Given the description of an element on the screen output the (x, y) to click on. 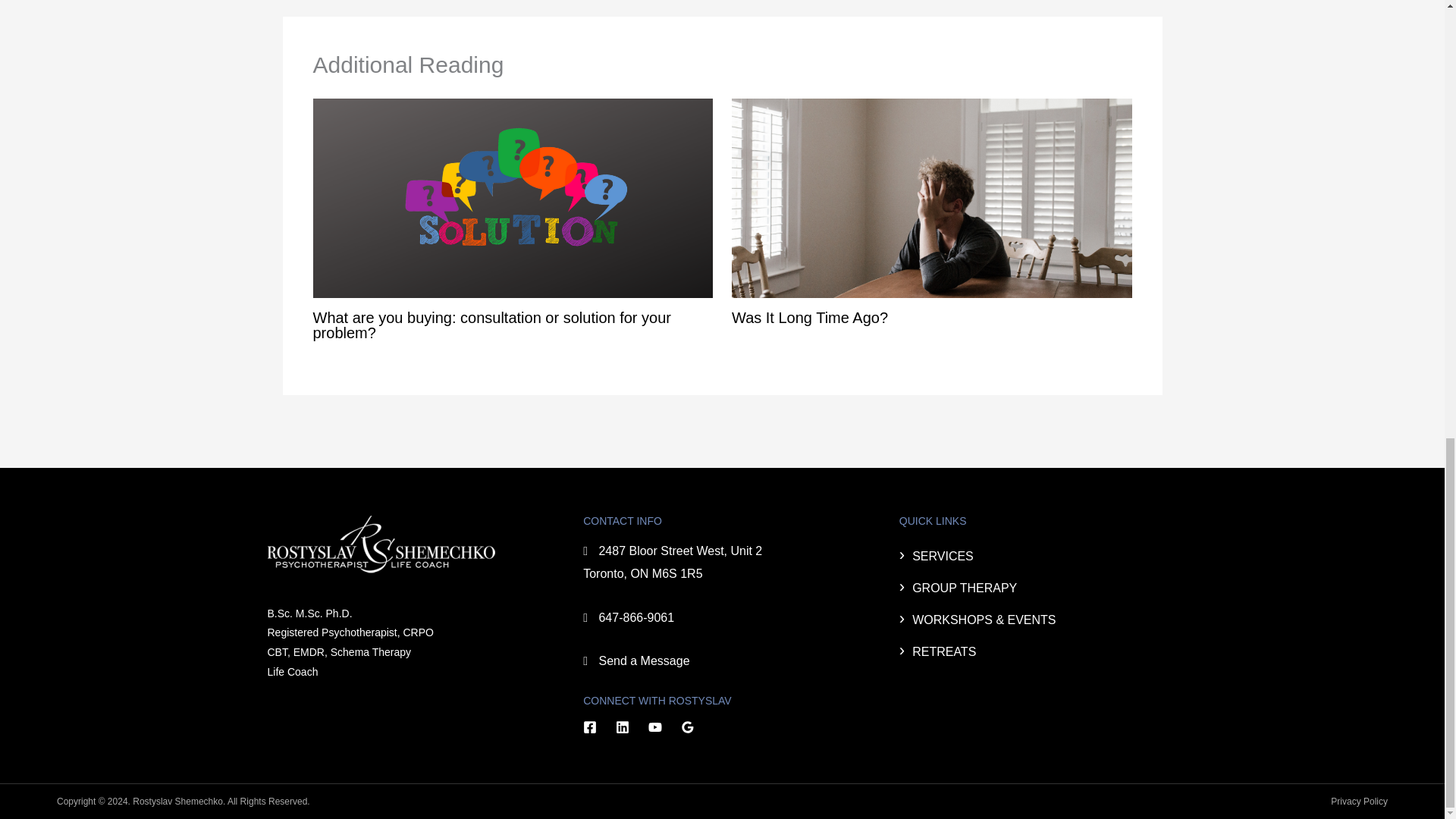
Was It Long Time Ago? (810, 317)
